Given the description of an element on the screen output the (x, y) to click on. 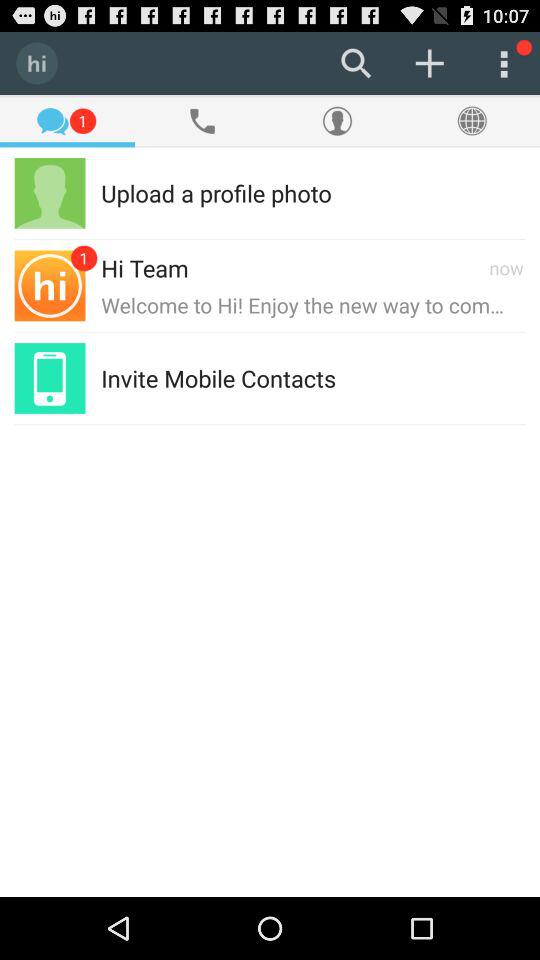
jump to welcome to hi app (313, 304)
